Given the description of an element on the screen output the (x, y) to click on. 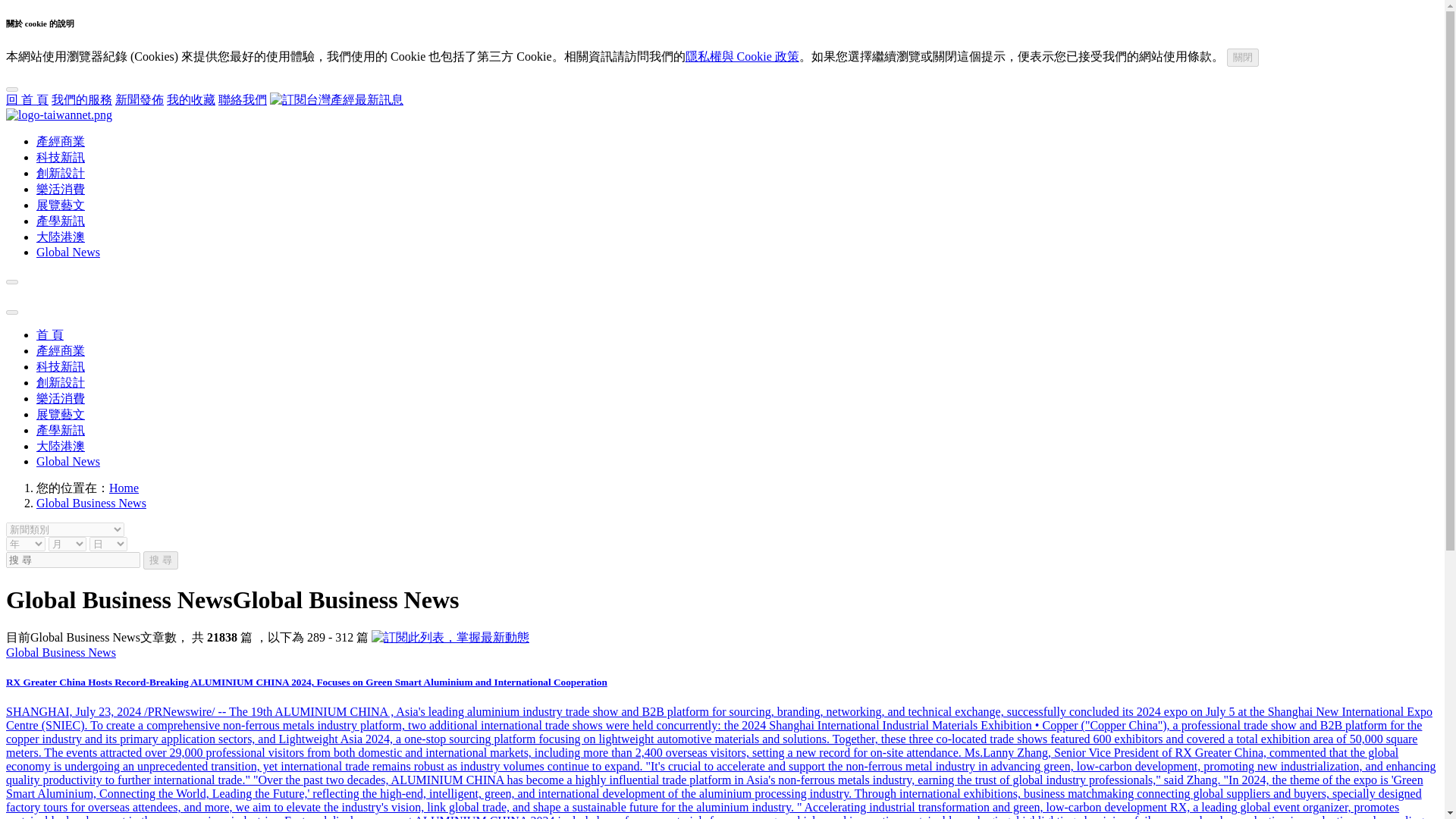
Global News (68, 461)
Global Business News (60, 652)
Global News (68, 251)
Global Business News (91, 502)
Home (123, 487)
